Given the description of an element on the screen output the (x, y) to click on. 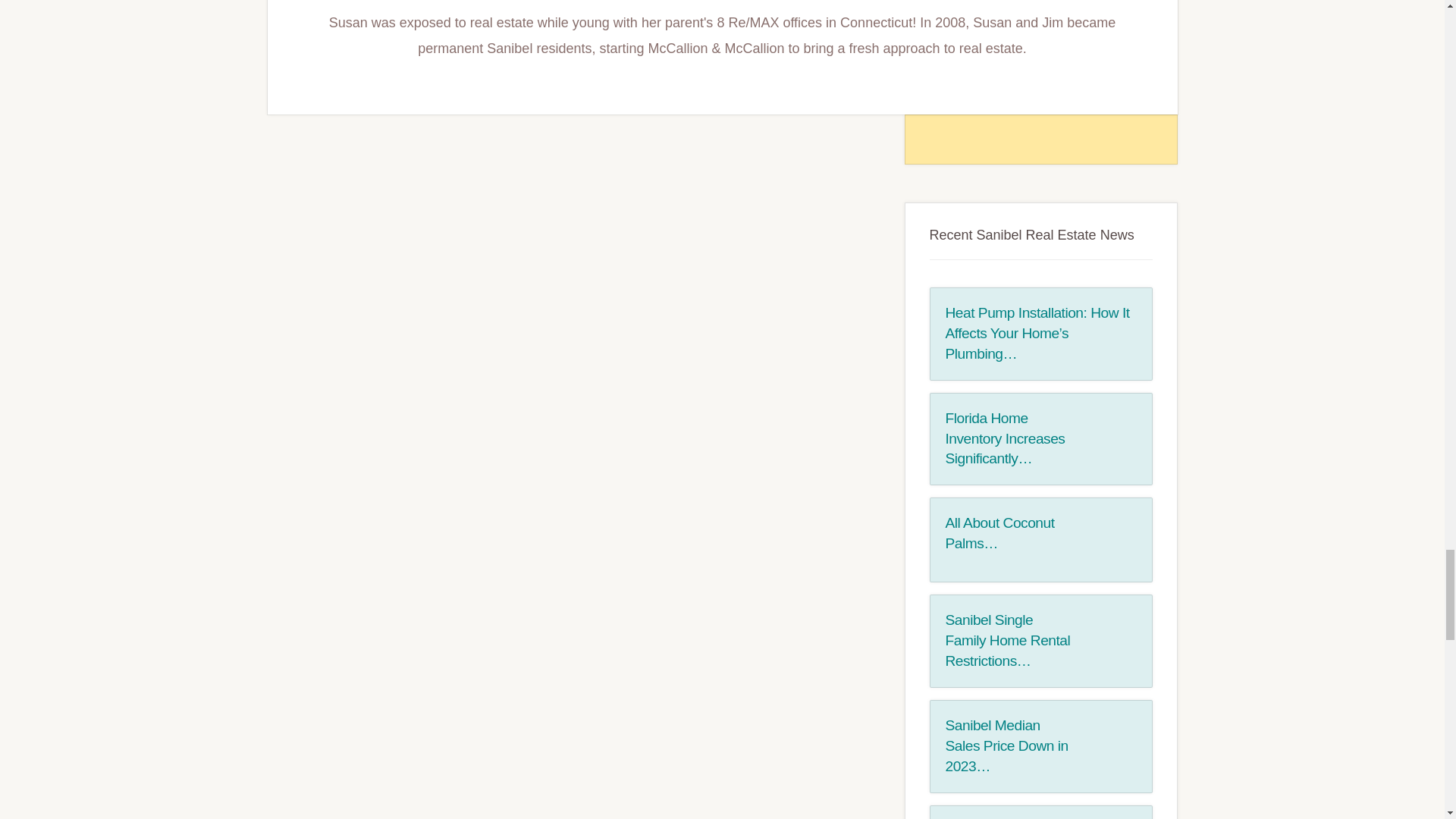
All About Coconut Palms (1108, 540)
Sanibel Median Sales Price Down in 2023 (1005, 745)
Sanibel Single Family Home Rental Restrictions (1007, 640)
Florida Home Inventory Increases Significantly (1004, 438)
Sanibel Median Sales Price Down in 2023 (1108, 742)
Florida Home Inventory Increases Significantly (1108, 435)
All About Coconut Palms (999, 533)
Sanibel Single Family Home Rental Restrictions (1108, 636)
